Given the description of an element on the screen output the (x, y) to click on. 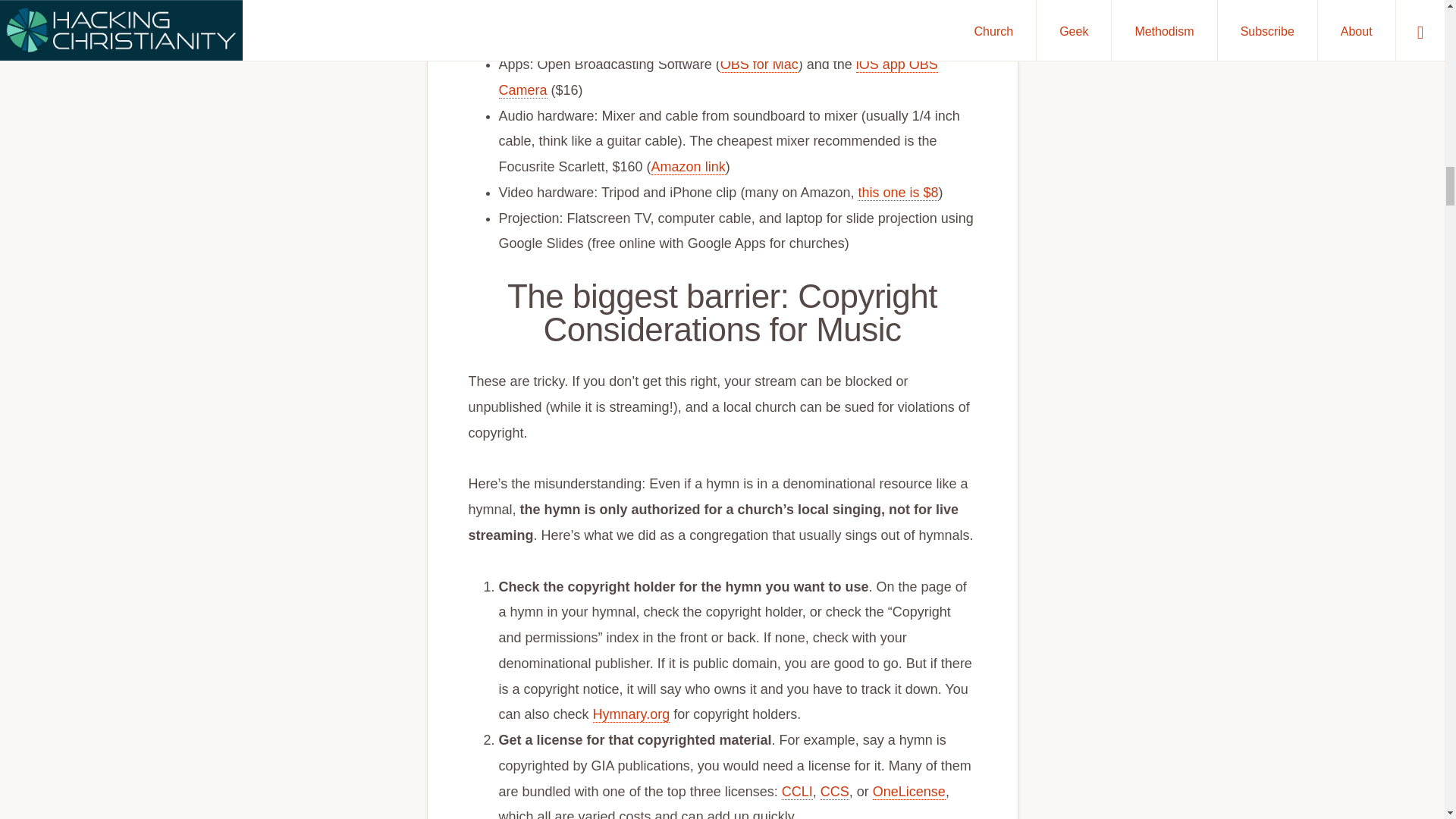
CCLI (796, 791)
CCS (834, 791)
Hymnary.org (630, 714)
OneLicense (908, 791)
iOS app OBS Camera (718, 77)
Amazon link (687, 166)
OBS for Mac (758, 64)
